Given the description of an element on the screen output the (x, y) to click on. 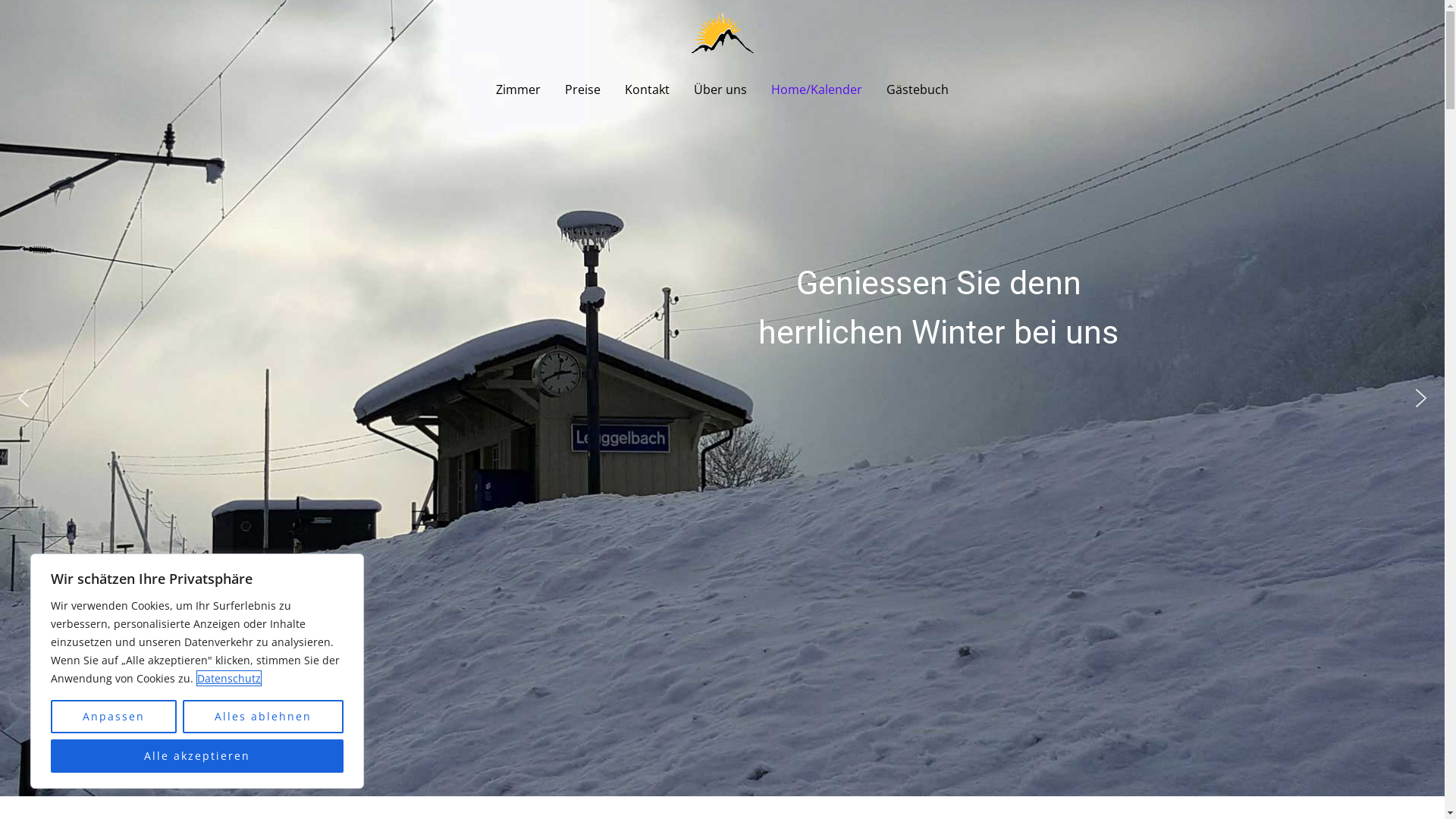
Zimmer Element type: text (517, 89)
Anpassen Element type: text (113, 716)
Home/Kalender Element type: text (816, 89)
Kontakt Element type: text (646, 89)
Datenschutz Element type: text (228, 678)
Alle akzeptieren Element type: text (196, 755)
Preise Element type: text (582, 89)
Alles ablehnen Element type: text (262, 716)
